Given the description of an element on the screen output the (x, y) to click on. 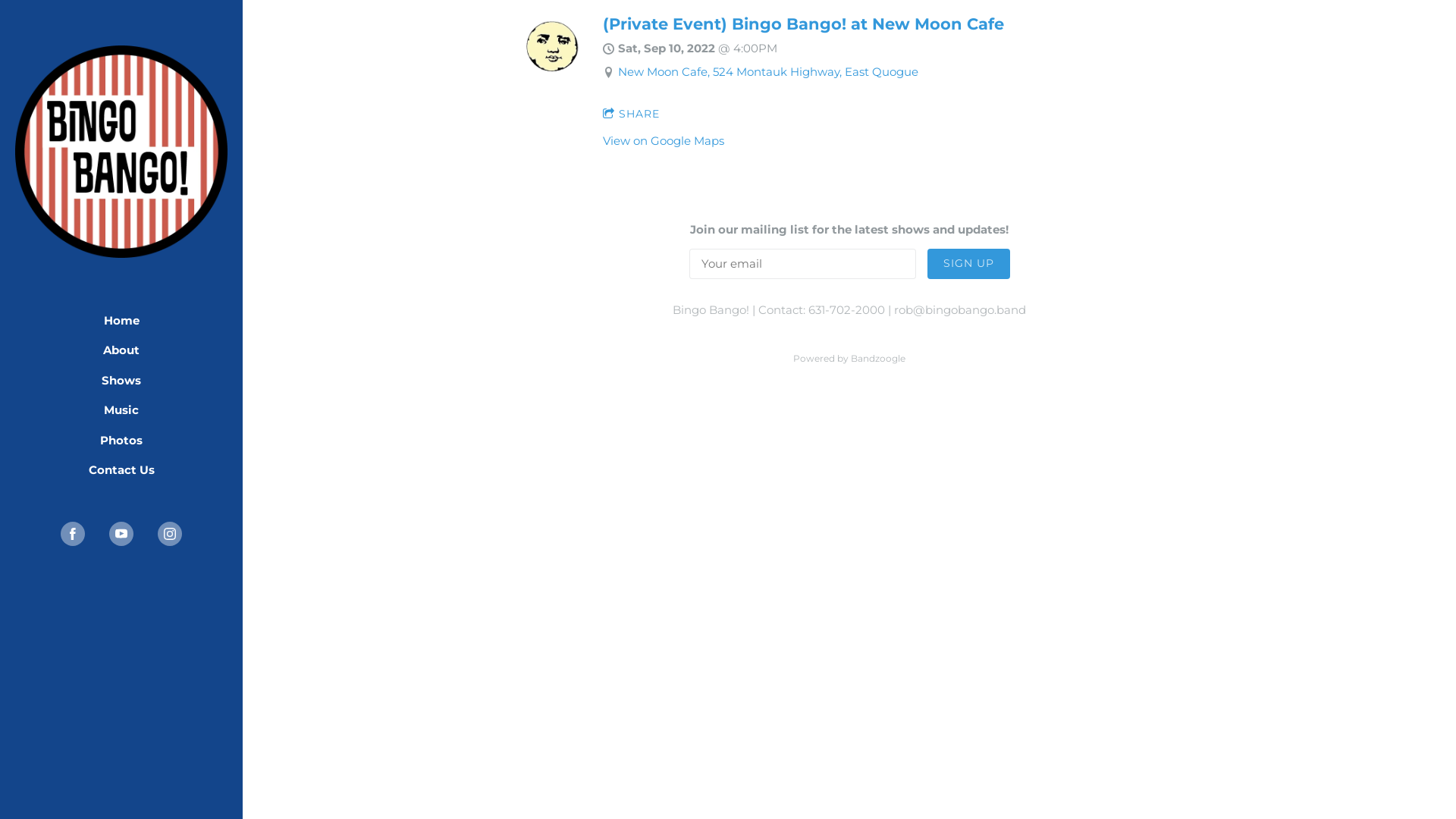
https://www.facebook.com/bingobangoband Element type: hover (72, 533)
Shows Element type: text (121, 379)
Contact Us Element type: text (120, 470)
Music Element type: text (120, 410)
SHARE Element type: text (630, 114)
About Element type: text (121, 350)
New Moon Cafe, 524 Montauk Highway, East Quogue Element type: text (768, 71)
(Private Event) Bingo Bango! at New Moon Cafe Element type: text (803, 23)
View on Google Maps Element type: text (663, 140)
https://instagram.com/bingobangoband Element type: hover (169, 533)
Home Element type: text (120, 320)
SIGN UP Element type: text (967, 263)
https://www.youtube.com/channel/UCyp3k6guNMa5CCeHFFKMCeQ Element type: hover (121, 533)
Photos Element type: text (121, 440)
Powered by Bandzoogle Element type: text (849, 358)
(Private Event) Bingo Bango! at New Moon Cafe  Element type: hover (551, 75)
